Given the description of an element on the screen output the (x, y) to click on. 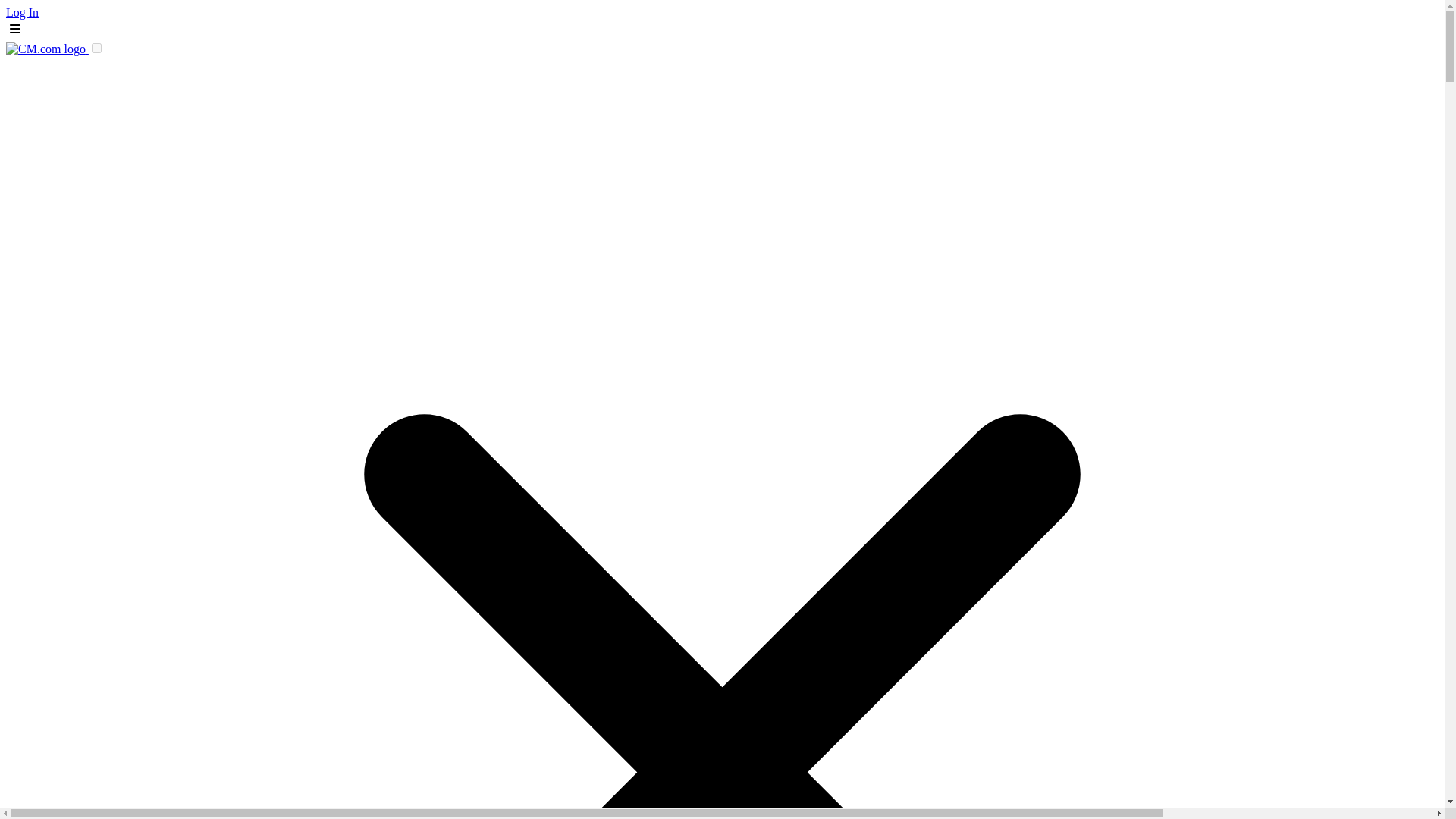
on (96, 48)
menu (14, 28)
CM.com (46, 48)
Log In (22, 11)
